Given the description of an element on the screen output the (x, y) to click on. 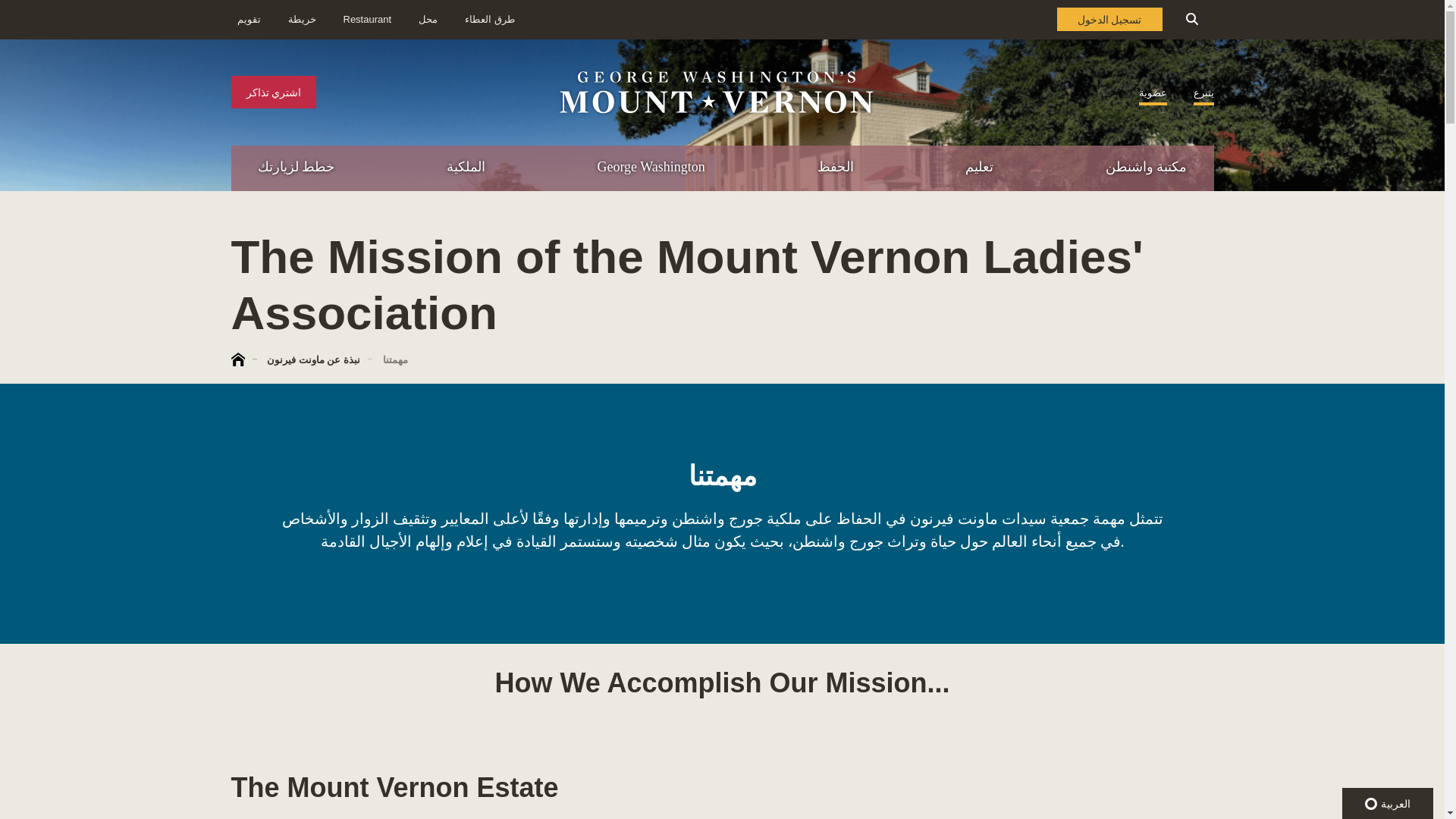
Restaurant (428, 19)
Restaurant (366, 19)
SUPPORT (1283, 263)
RESTAURANT (1377, 232)
